Given the description of an element on the screen output the (x, y) to click on. 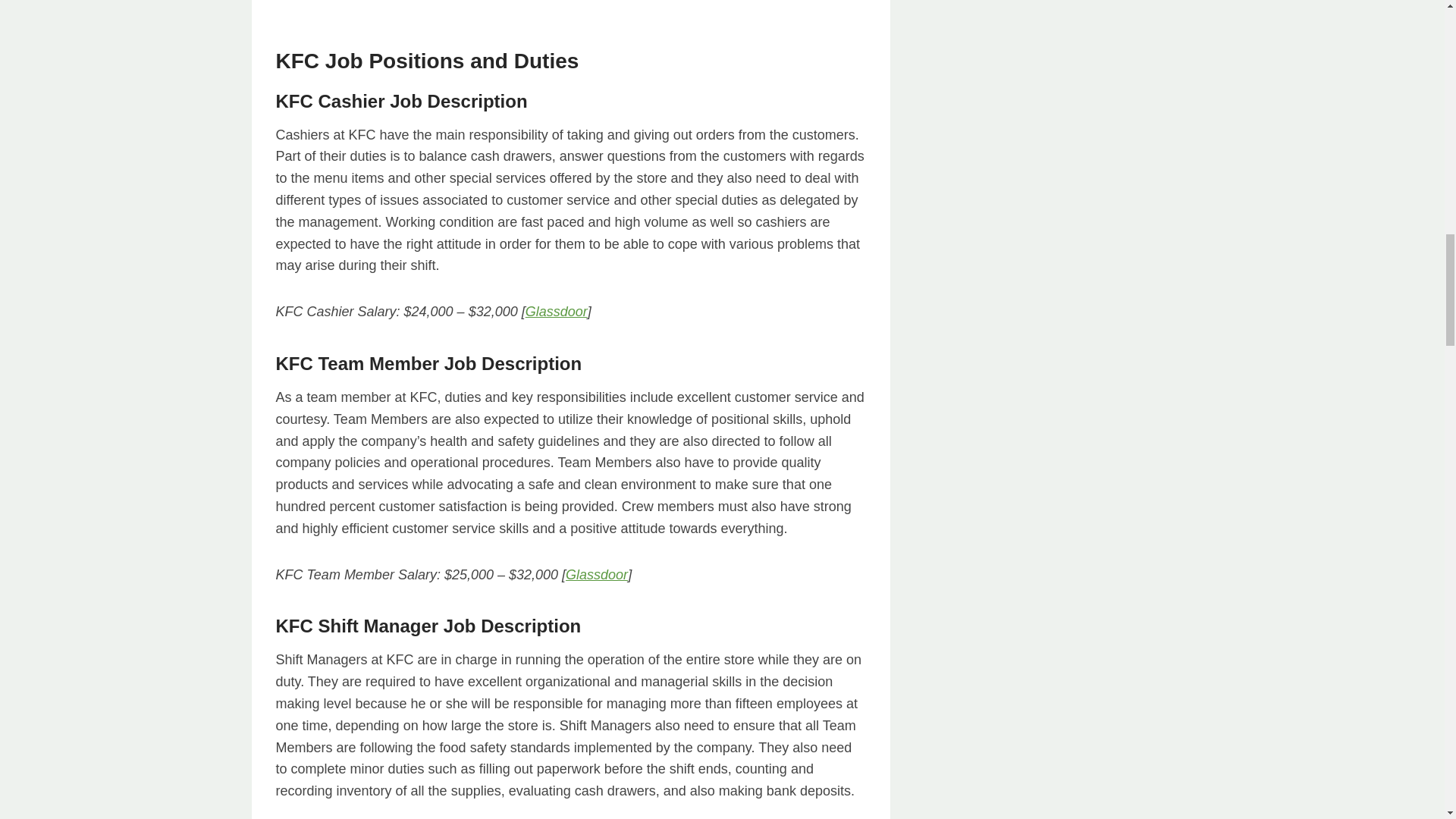
Glassdoor (596, 574)
Glassdoor (556, 311)
